Given the description of an element on the screen output the (x, y) to click on. 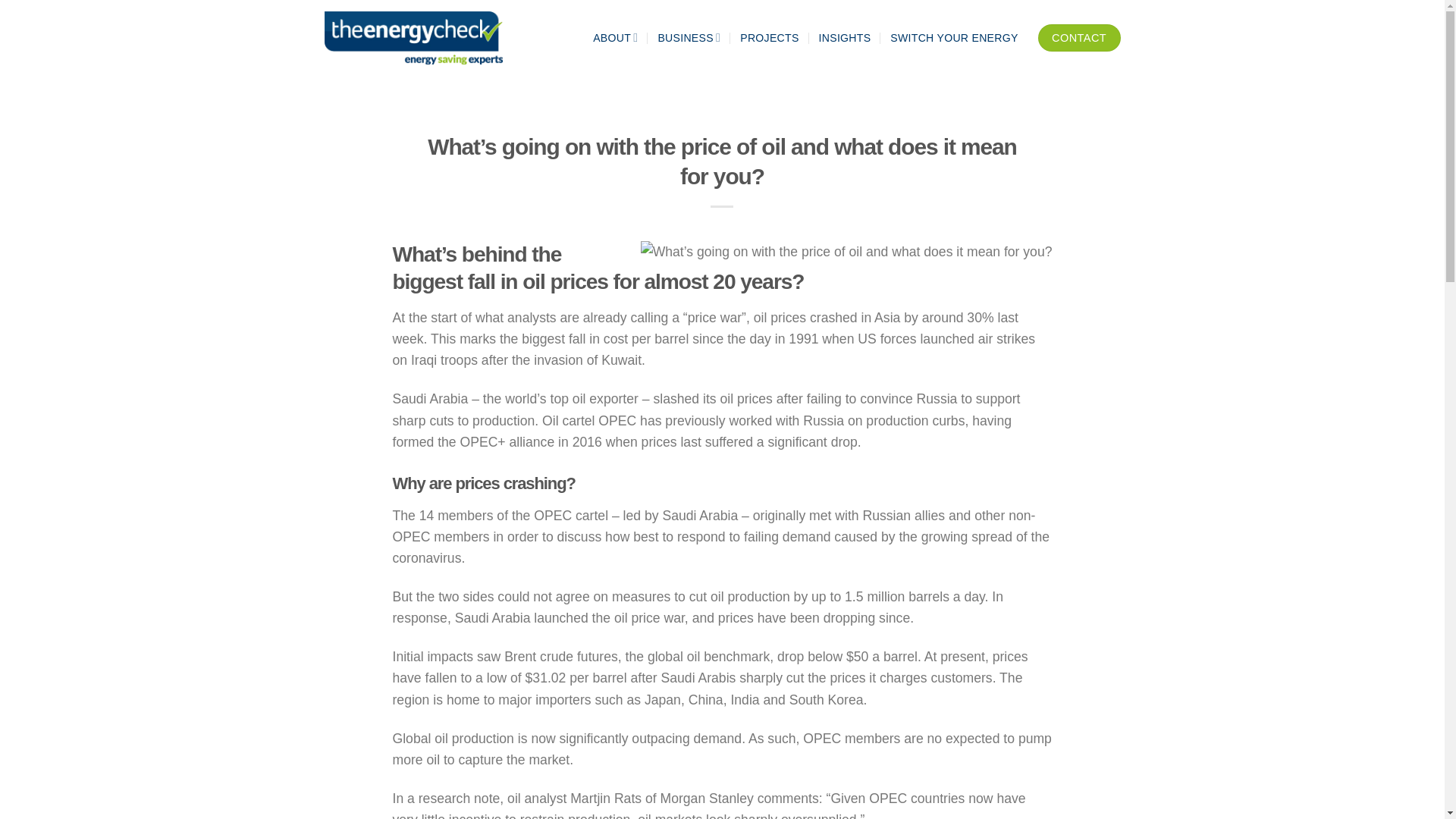
CONTACT (1079, 38)
The Energy Check - Energy Saving Experts (418, 38)
BUSINESS (689, 37)
ABOUT (614, 37)
INSIGHTS (844, 37)
PROJECTS (768, 37)
EXPERT INSIGHT (721, 122)
SWITCH YOUR ENERGY (953, 37)
